Given the description of an element on the screen output the (x, y) to click on. 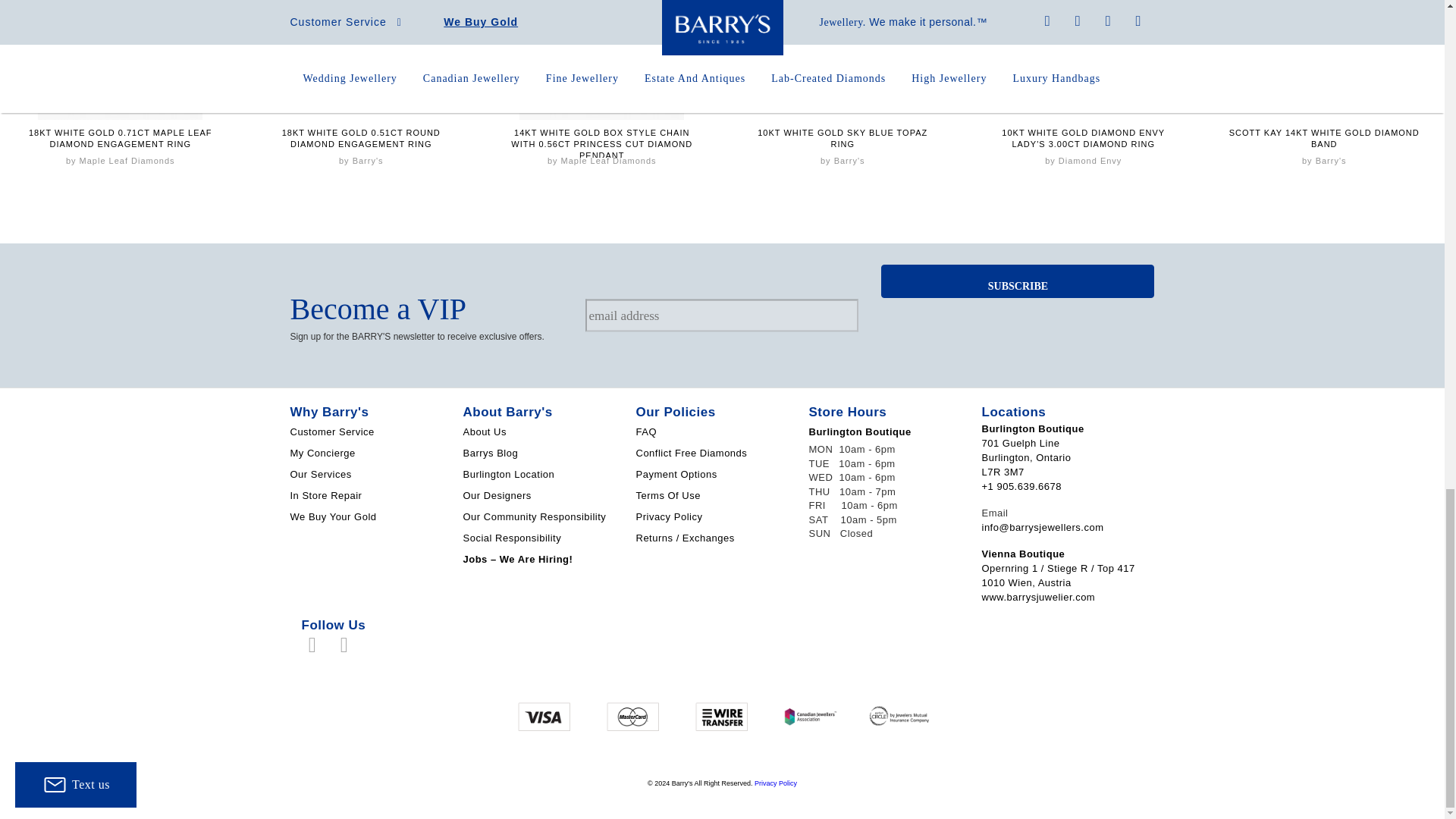
Subscribe (1017, 281)
